Given the description of an element on the screen output the (x, y) to click on. 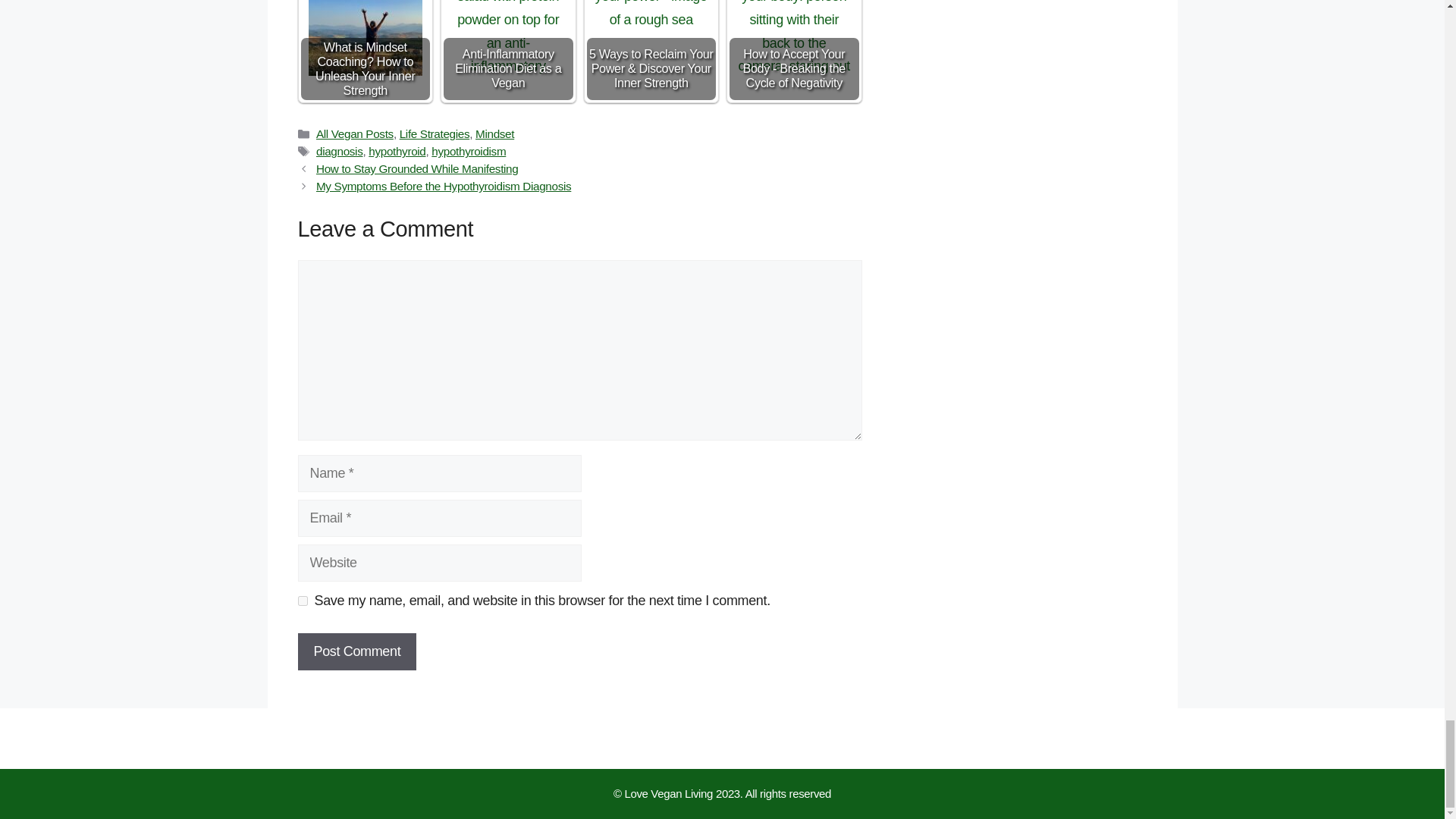
What is Mindset Coaching? How to Unleash Your Inner Strength (365, 38)
yes (302, 601)
Anti-Inflammatory Elimination Diet as a Vegan (507, 38)
How to Accept Your Body - Breaking the Cycle of Negativity (793, 38)
Post Comment (356, 651)
